Given the description of an element on the screen output the (x, y) to click on. 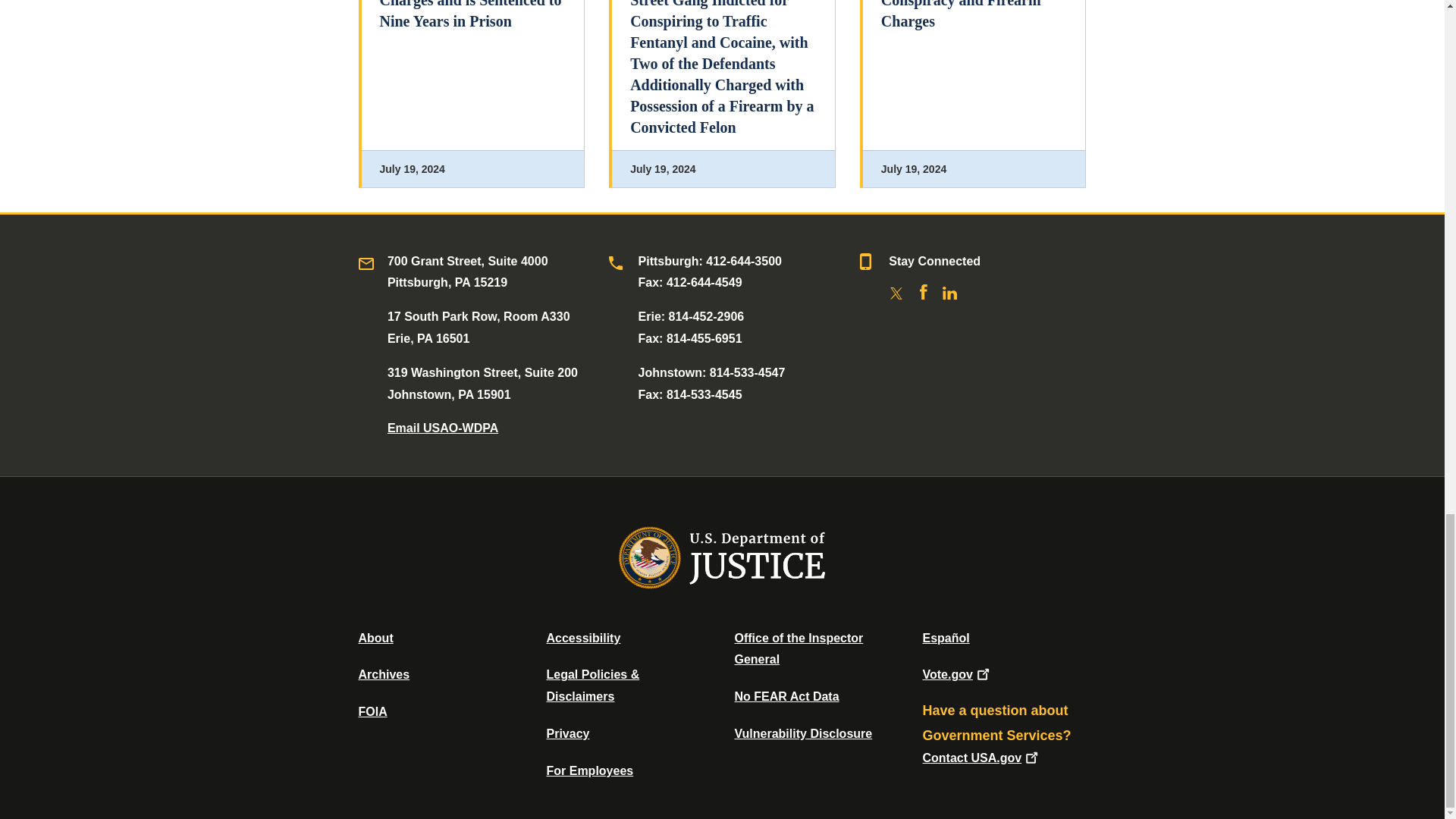
Data Posted Pursuant To The No Fear Act (785, 696)
About DOJ (375, 637)
Accessibility Statement (583, 637)
For Employees (589, 770)
Office of Information Policy (372, 711)
Legal Policies and Disclaimers (592, 685)
Department of Justice Archive (383, 674)
